Given the description of an element on the screen output the (x, y) to click on. 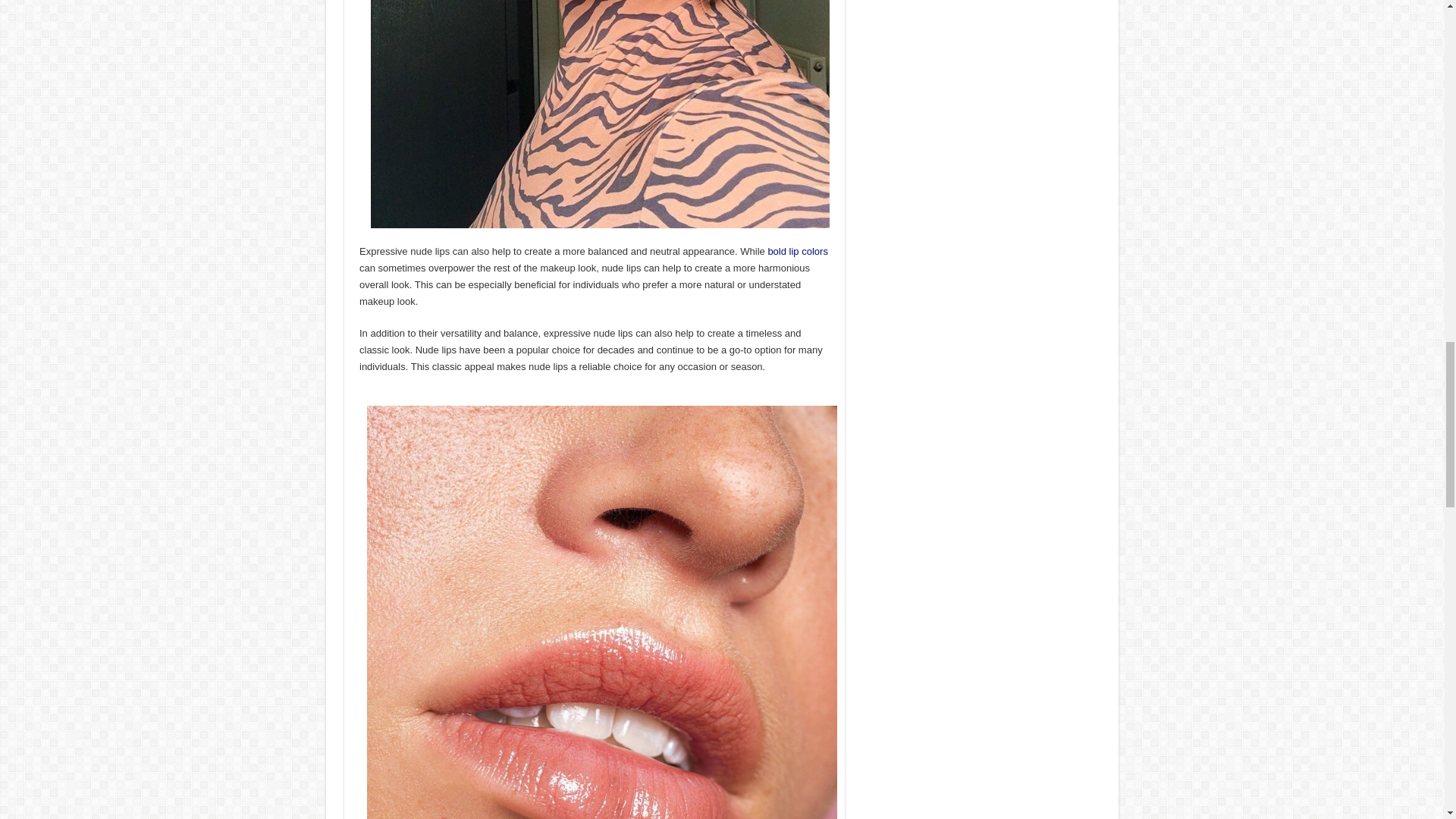
bold lip colors (797, 251)
Unleashing the Power of Expressive Nude Lips (601, 698)
Bold and Stunning: The Art of Expressive Nude Lips (600, 114)
The Latest Makeup Trends Heating Up Beauty Circles (797, 251)
